Given the description of an element on the screen output the (x, y) to click on. 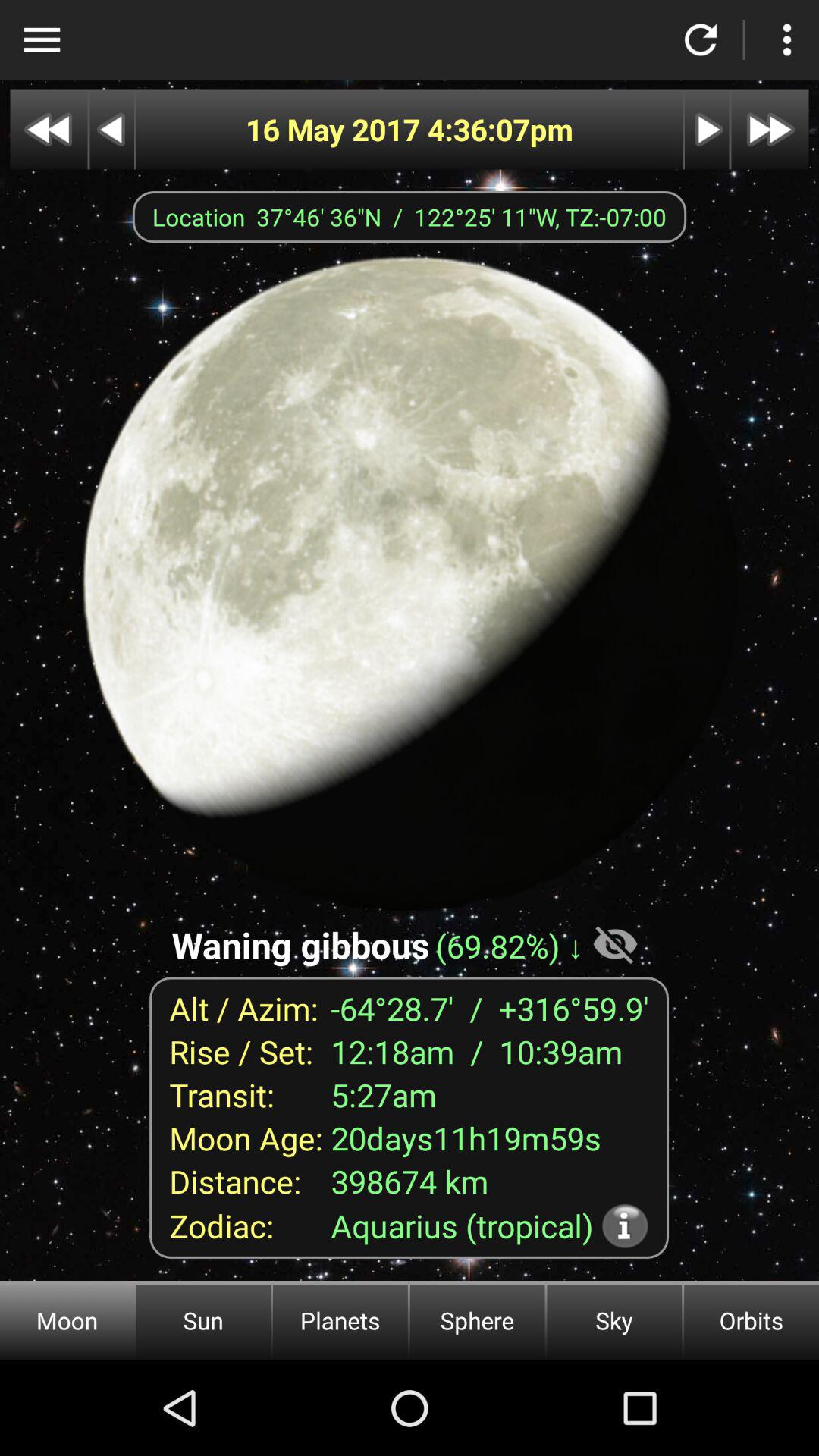
go forward to last (769, 129)
